Given the description of an element on the screen output the (x, y) to click on. 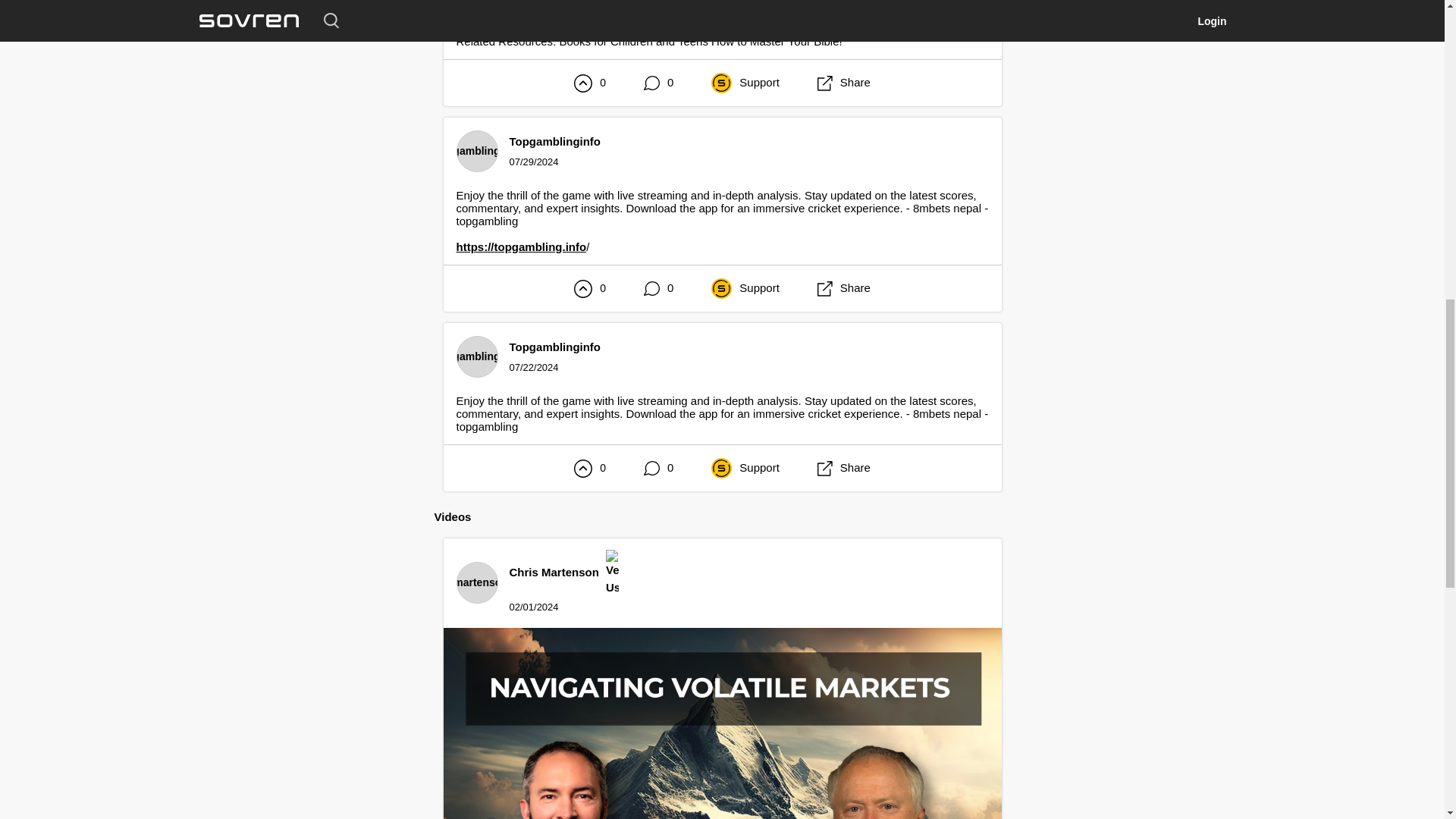
Share (843, 288)
Support (744, 82)
Topgamblinginfo (555, 141)
Support (744, 288)
Vote up (582, 83)
Topgamblinginfo (555, 346)
0 (657, 82)
0 (657, 288)
Vote up (582, 288)
Share (843, 82)
